Given the description of an element on the screen output the (x, y) to click on. 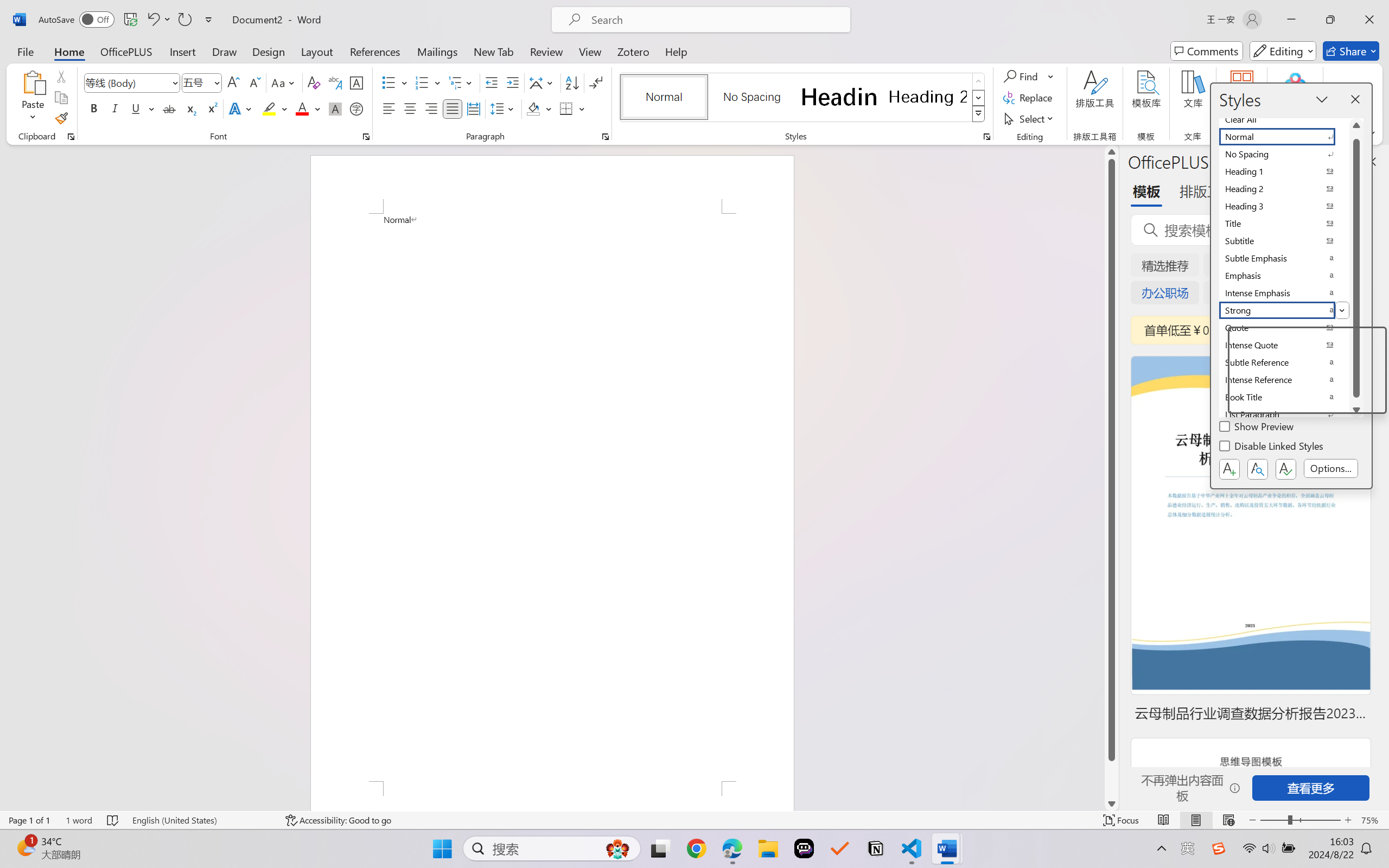
Justify (452, 108)
AutoSave (76, 19)
Font Size (201, 82)
Spelling and Grammar Check No Errors (113, 819)
Web Layout (1228, 819)
Share (1350, 51)
Title (1283, 223)
Design (268, 51)
Shading (539, 108)
Character Border (356, 82)
Superscript (210, 108)
Restore Down (1330, 19)
